Given the description of an element on the screen output the (x, y) to click on. 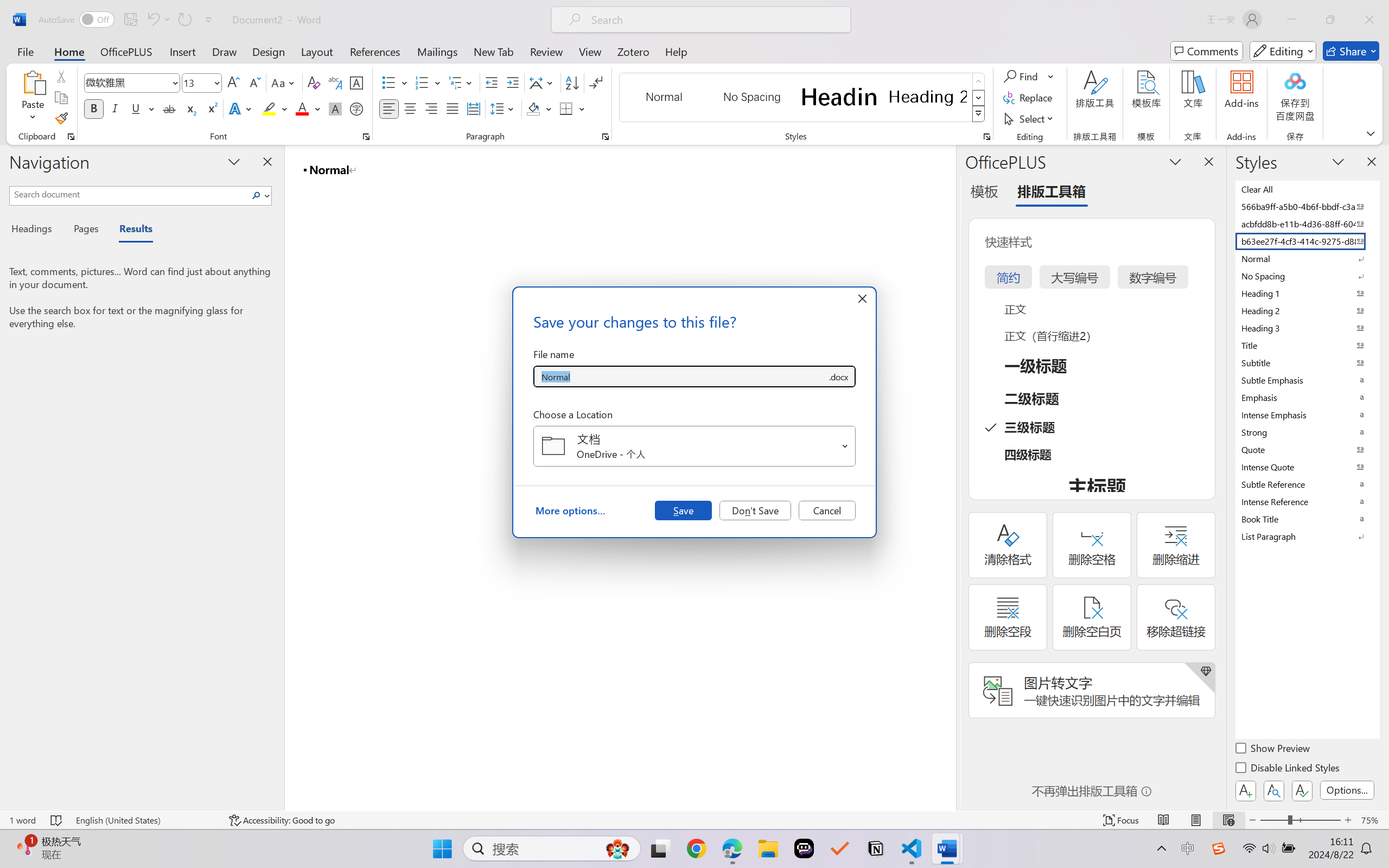
Phonetic Guide... (334, 82)
Character Border (356, 82)
Font Color Red (302, 108)
Cut (60, 75)
Google Chrome (696, 848)
acbfdd8b-e11b-4d36-88ff-6049b138f862 (1306, 223)
Asian Layout (542, 82)
Shading RGB(0, 0, 0) (533, 108)
References (375, 51)
